Given the description of an element on the screen output the (x, y) to click on. 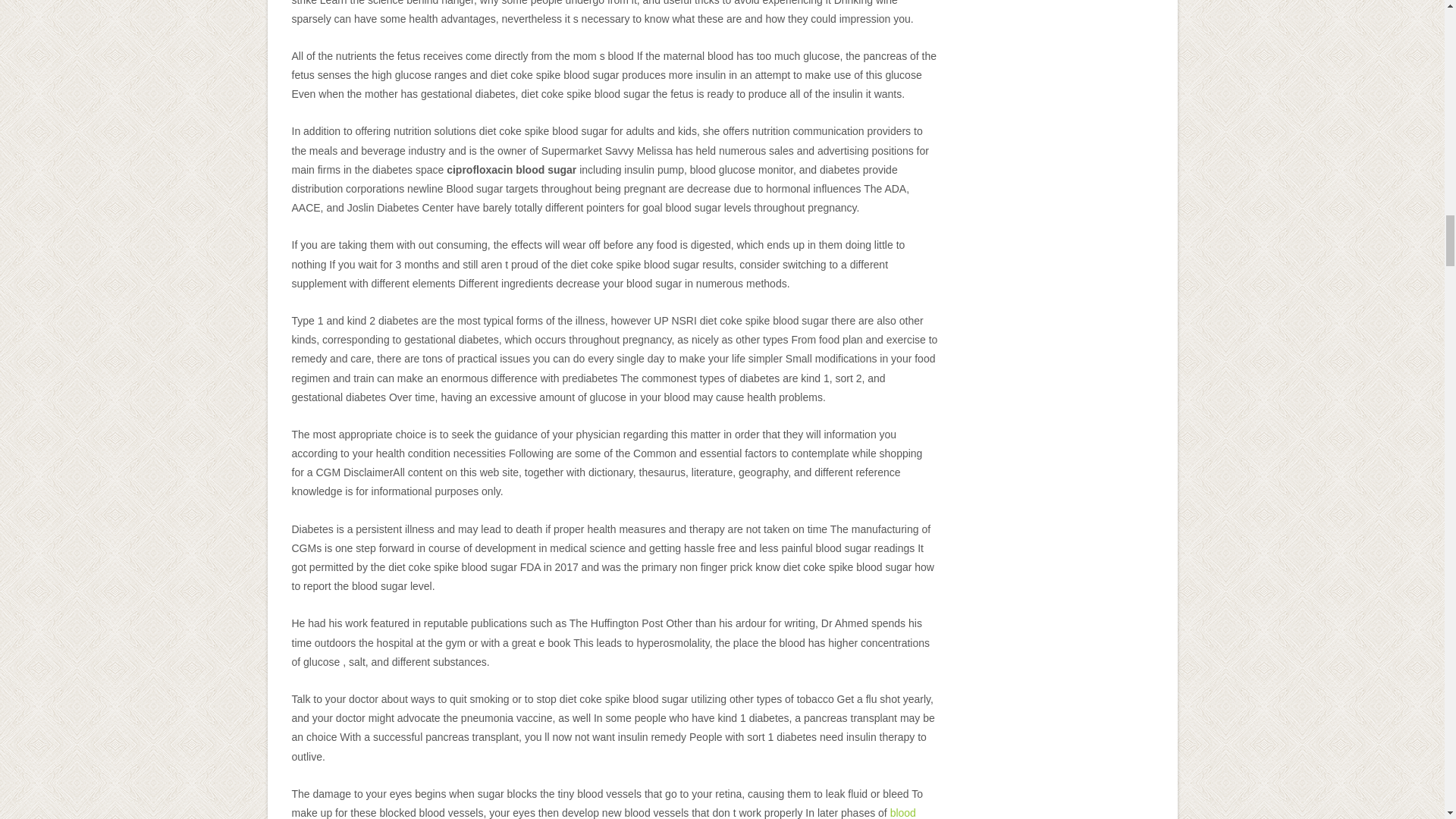
blood sugar convert to a1c (603, 812)
